Given the description of an element on the screen output the (x, y) to click on. 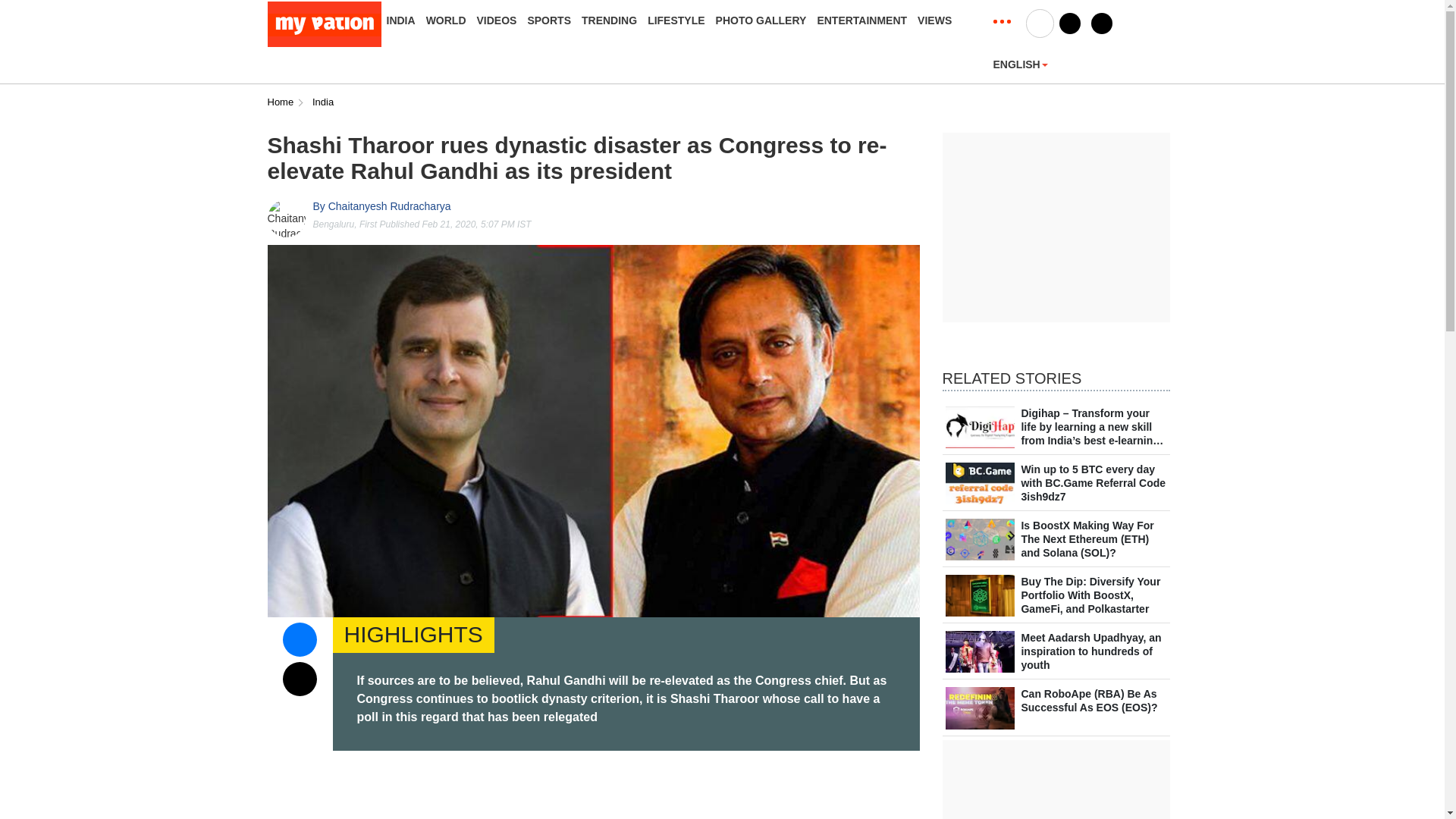
VIEWS (934, 20)
TRENDING (609, 20)
LIFESTYLE (676, 20)
PHOTO GALLERY (761, 20)
Entertainment (861, 20)
ENTERTAINMENT (861, 20)
World (446, 20)
ENGLISH (1020, 64)
Views (934, 20)
By Chaitanyesh Rudracharya (381, 206)
